Given the description of an element on the screen output the (x, y) to click on. 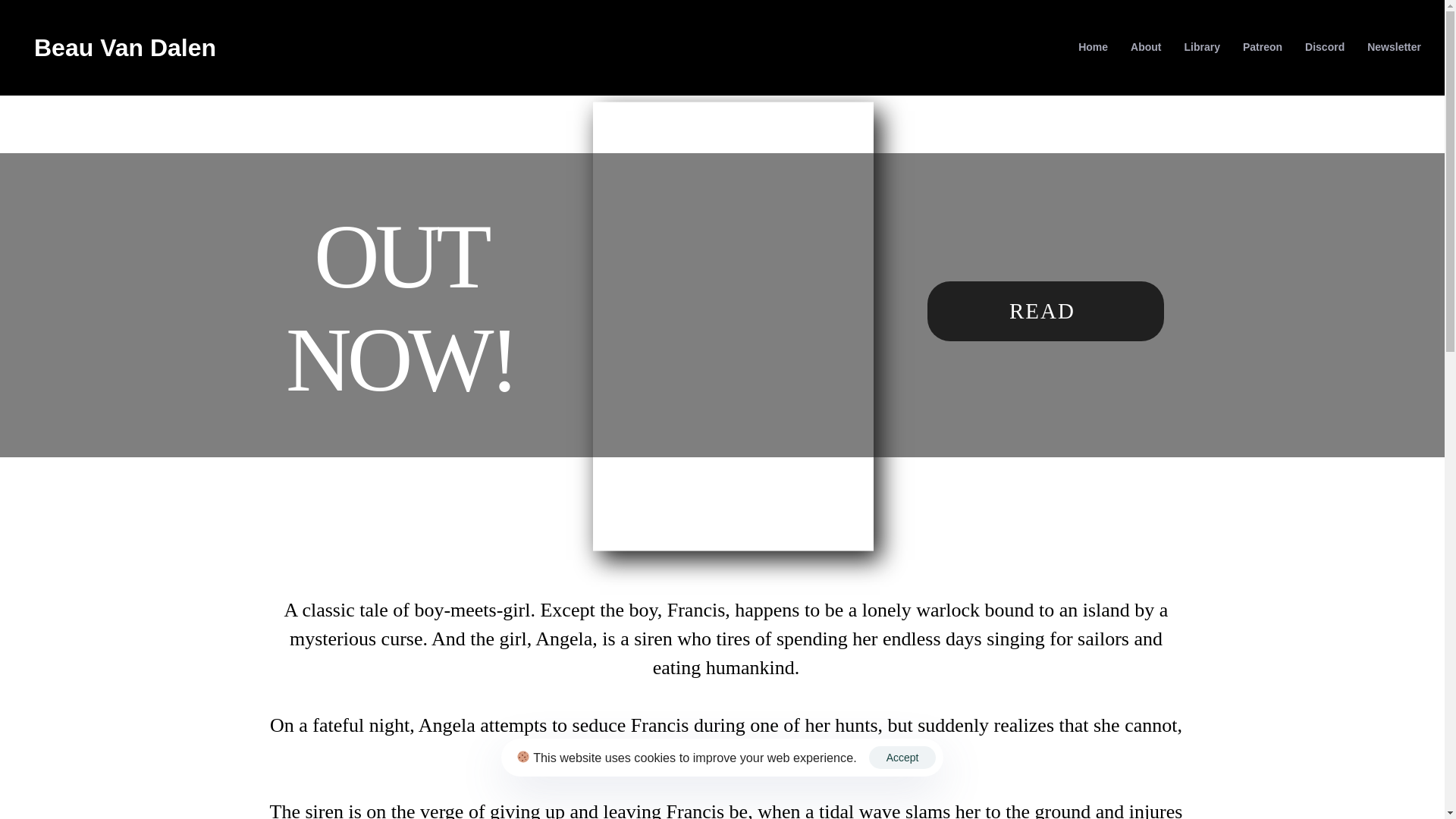
Accept (902, 757)
READ (1045, 311)
